Given the description of an element on the screen output the (x, y) to click on. 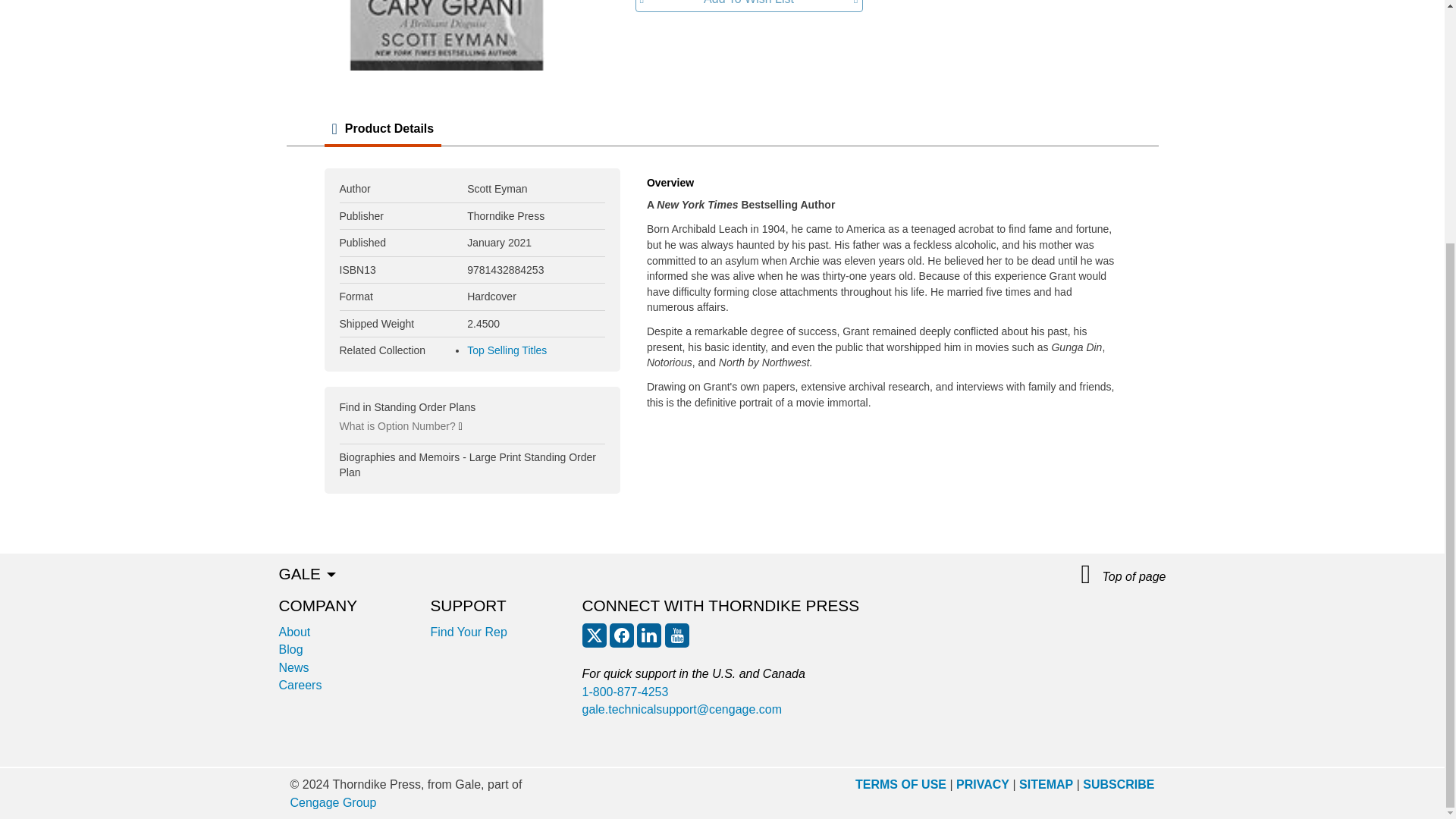
Top of page (1123, 574)
Top of page (1123, 574)
